Given the description of an element on the screen output the (x, y) to click on. 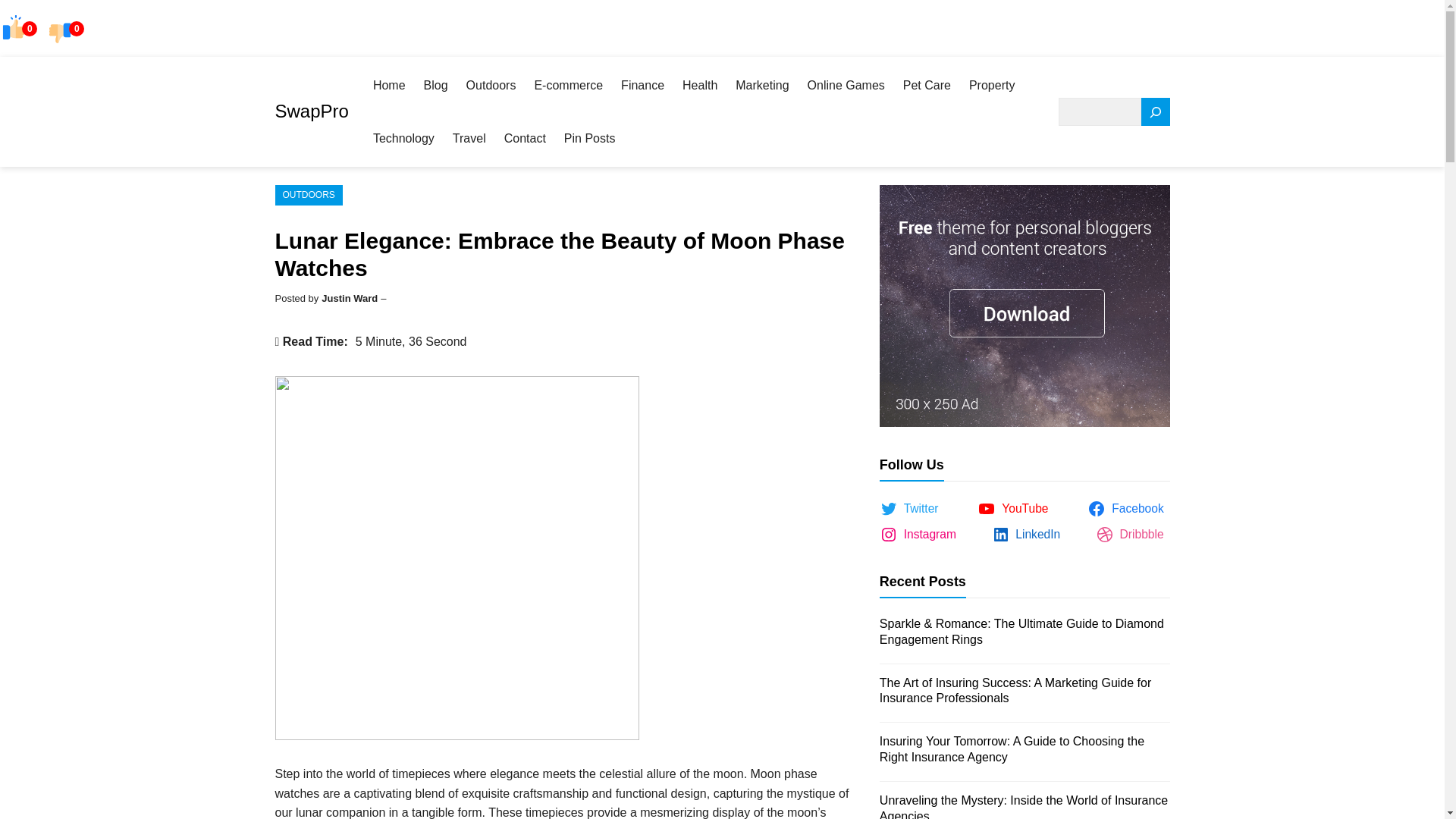
Travel (469, 138)
Online Games (846, 85)
SwapPro (311, 110)
Pet Care (926, 85)
E-commerce (568, 85)
Property (991, 85)
Marketing (762, 85)
Health (699, 85)
Instagram (920, 534)
Dribbble (1133, 534)
Contact (524, 138)
Facebook (1128, 508)
LinkedIn (1029, 534)
Pin Posts (589, 138)
Technology (402, 138)
